Given the description of an element on the screen output the (x, y) to click on. 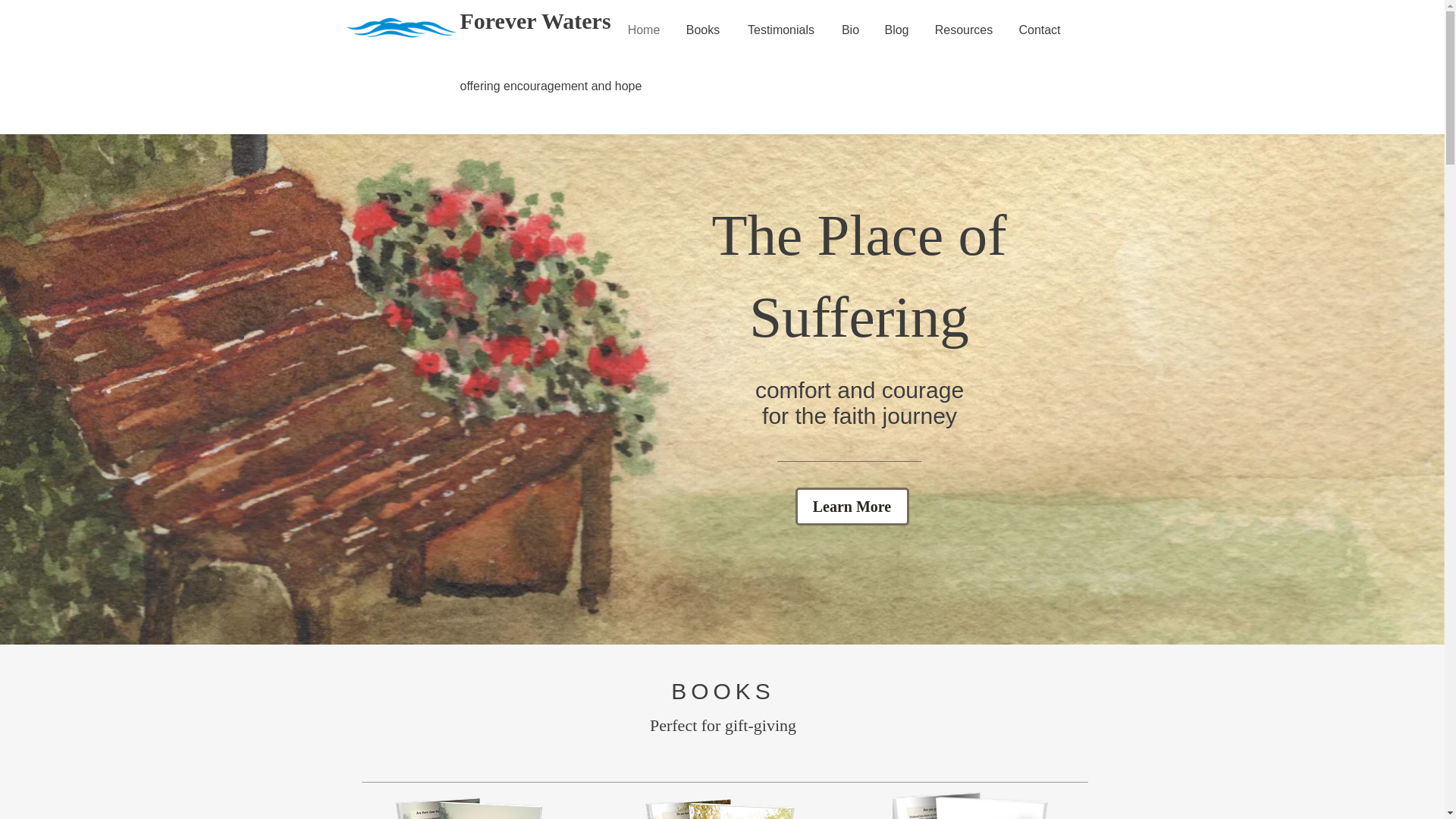
Books (702, 29)
Home (643, 29)
Bio (850, 29)
Contact (1039, 29)
Blog (896, 29)
Learn More (851, 506)
Testimonials (780, 29)
Resources (963, 29)
Forever Waters (535, 20)
